Given the description of an element on the screen output the (x, y) to click on. 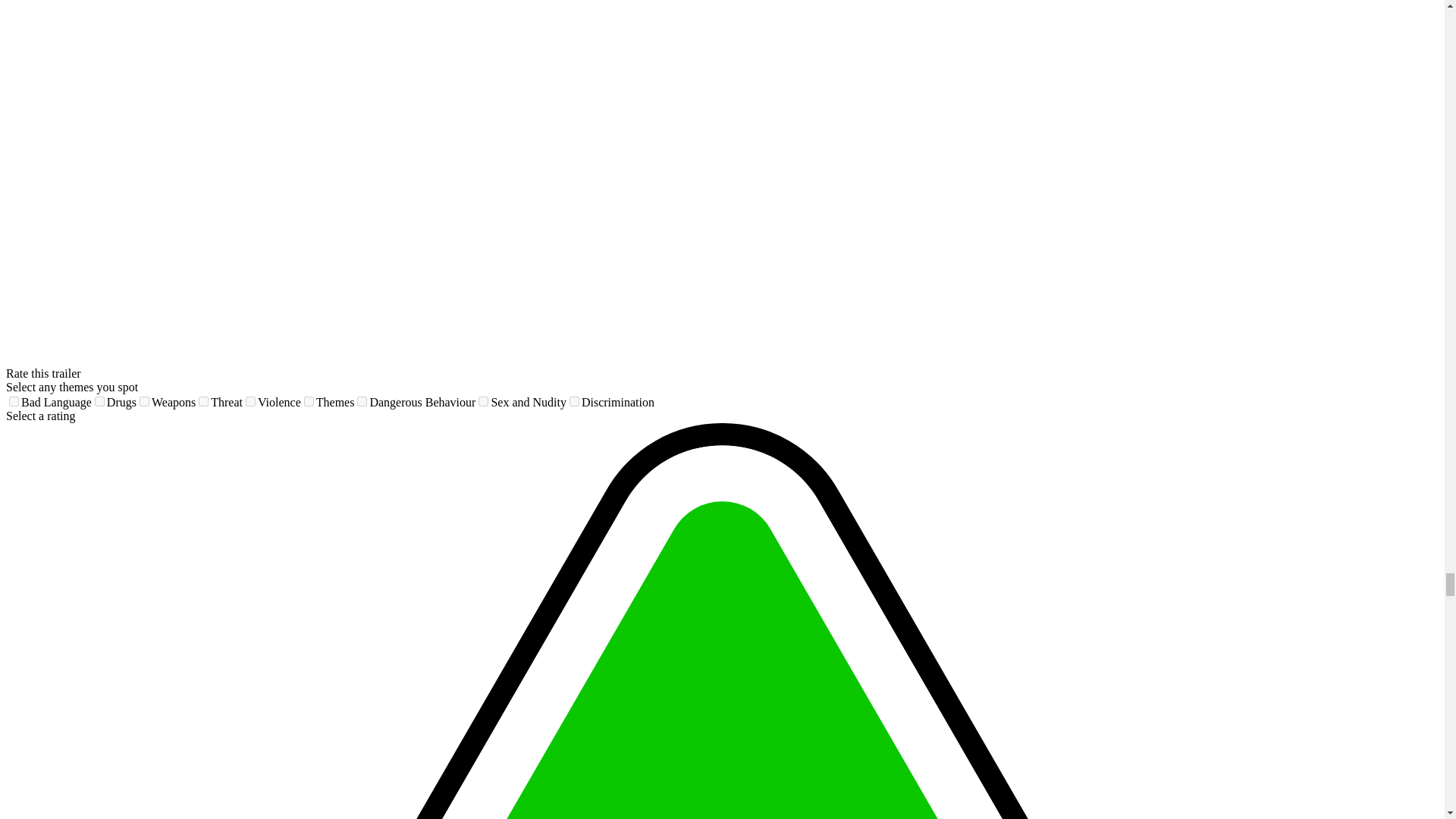
Weapons (144, 401)
Themes (309, 401)
Bad Language (13, 401)
Threat (203, 401)
Dangerous Behaviour (361, 401)
Violence (251, 401)
Drugs (99, 401)
Discrimination (574, 401)
Sex and Nudity (483, 401)
